Given the description of an element on the screen output the (x, y) to click on. 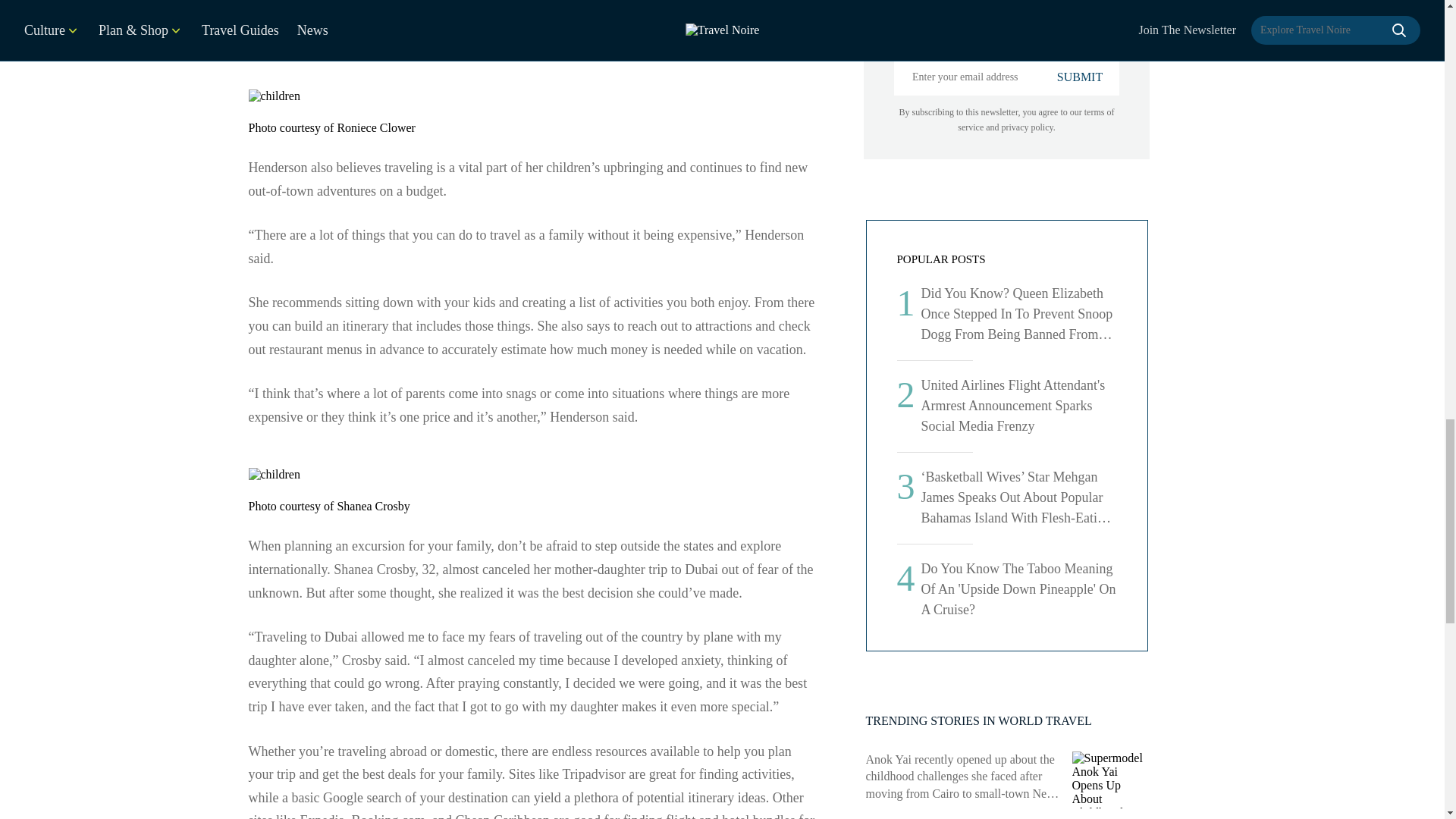
10 Black-Owned Restaurants In Tampa, Florida (1109, 656)
